Given the description of an element on the screen output the (x, y) to click on. 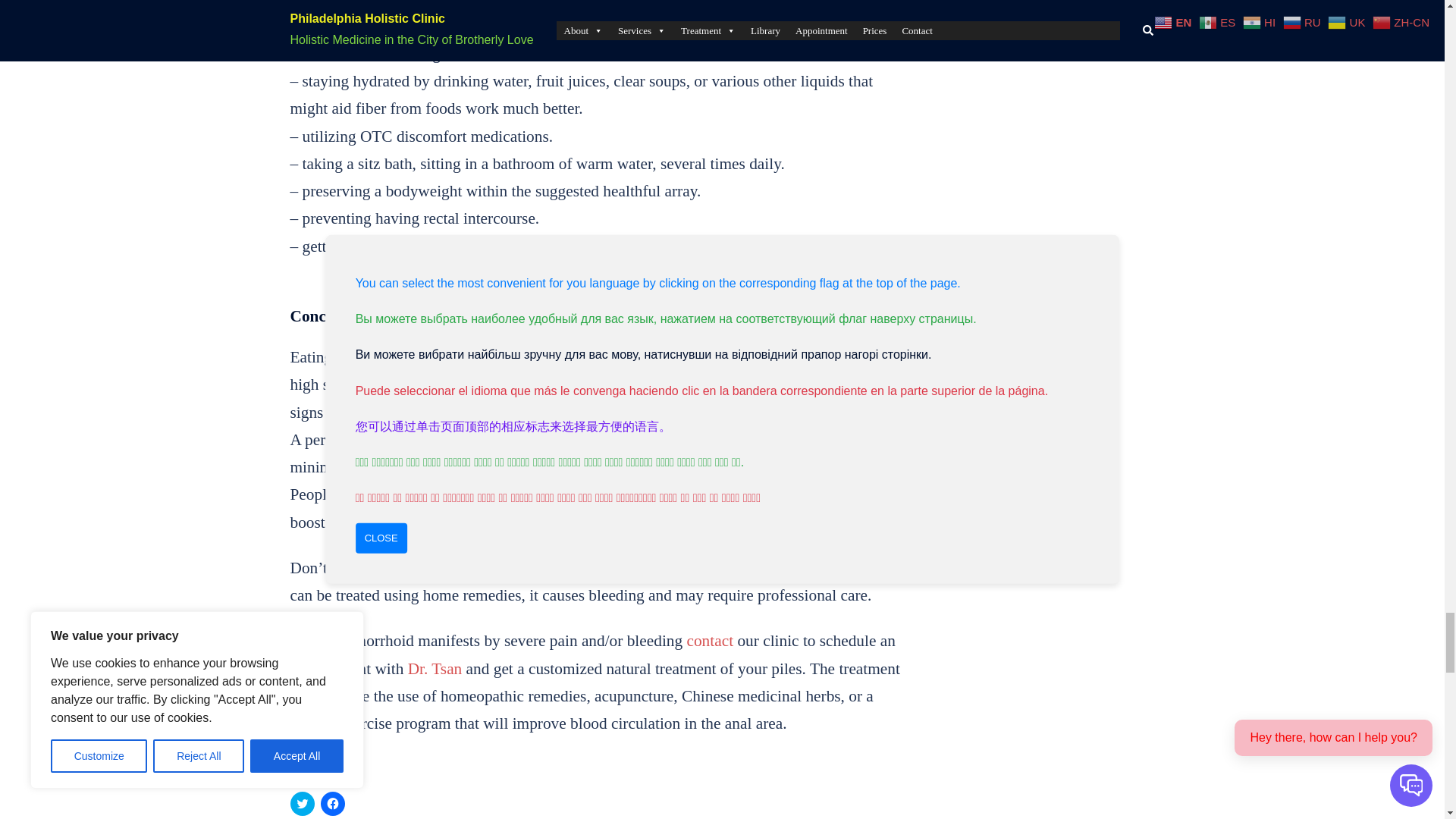
Click to share on Twitter (301, 803)
Click to share on Facebook (331, 803)
